Given the description of an element on the screen output the (x, y) to click on. 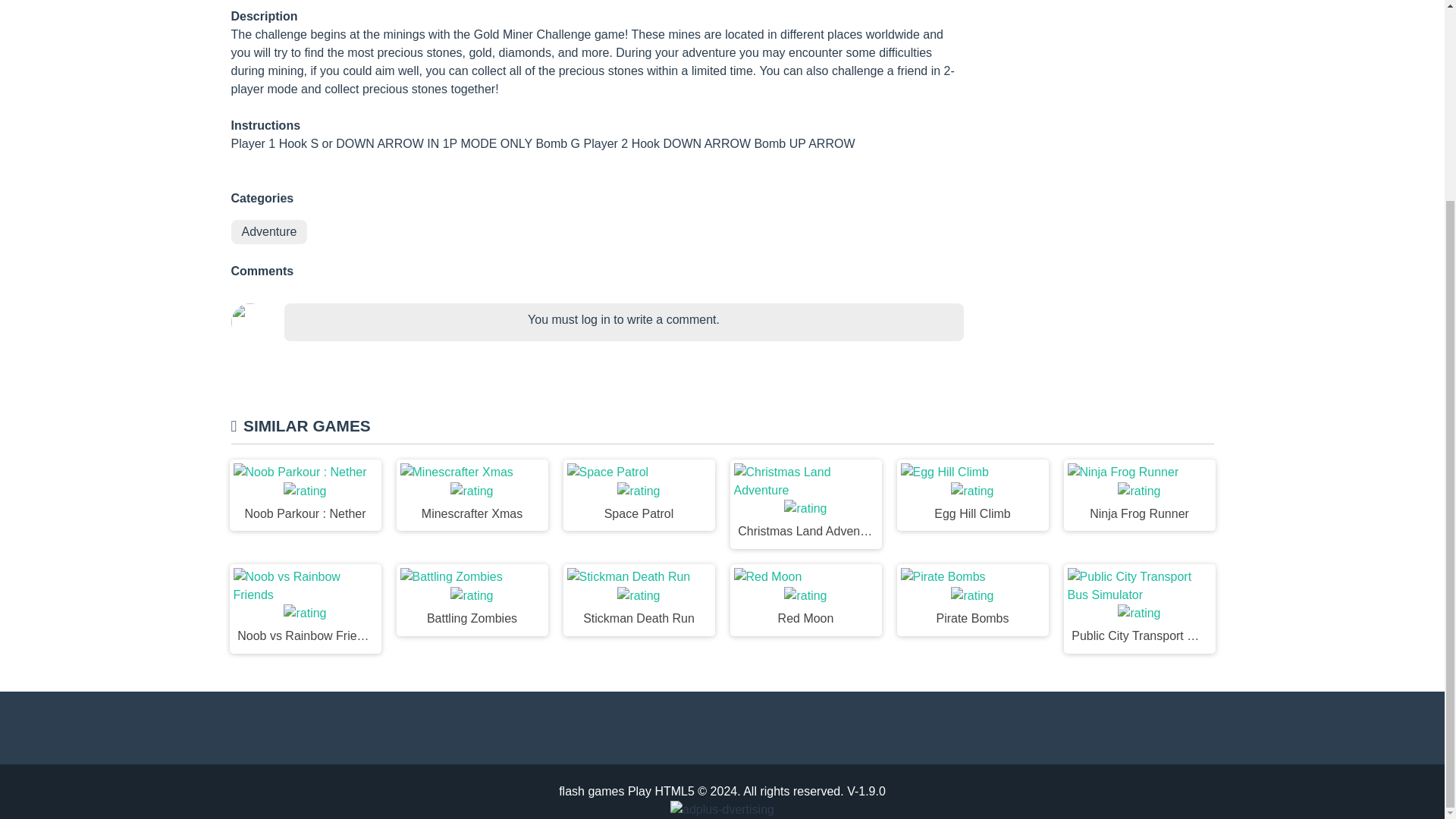
Ad.Plus Advertising (721, 553)
